Given the description of an element on the screen output the (x, y) to click on. 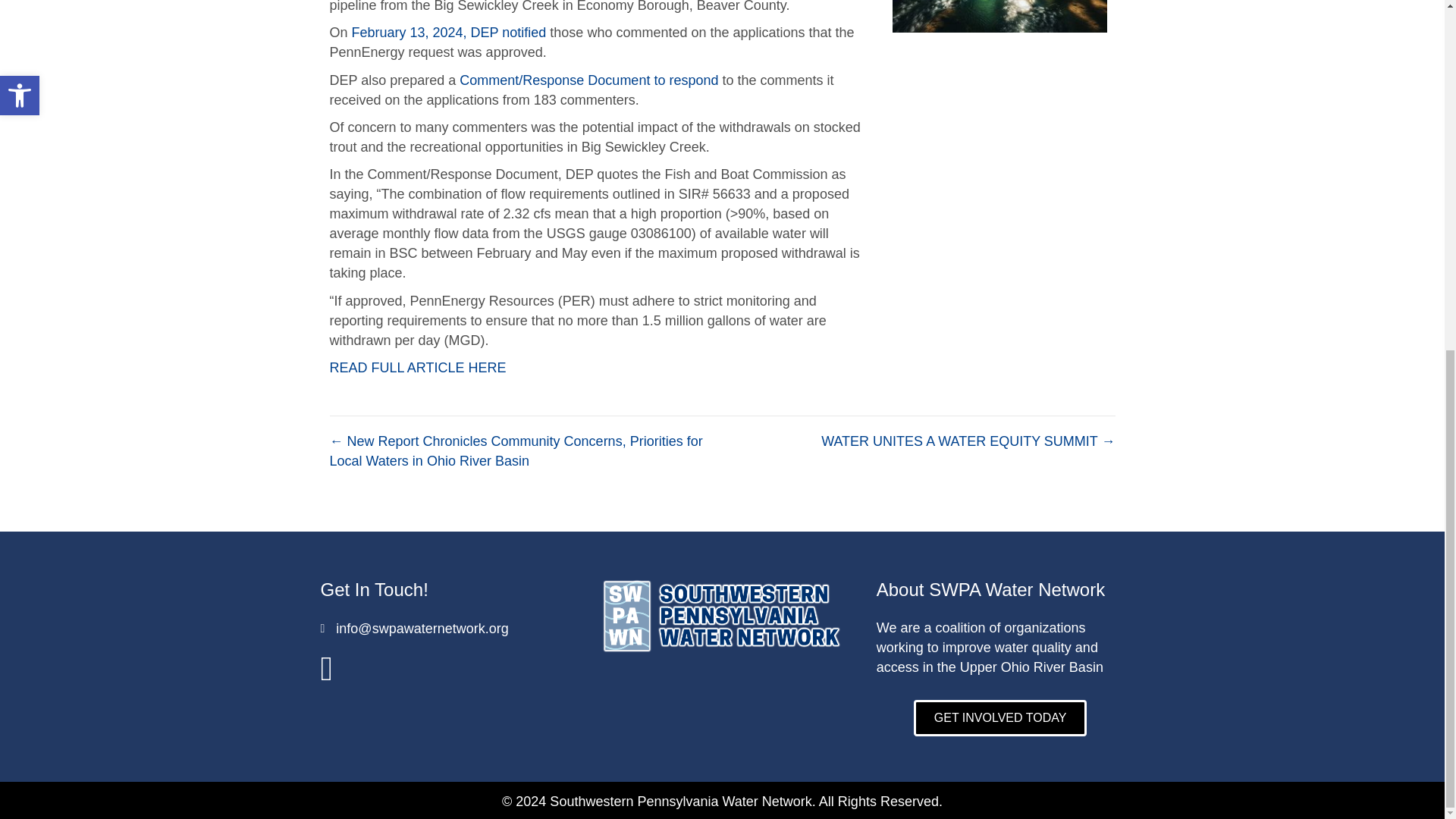
READ FULL ARTICLE HERE (417, 367)
CREEK (999, 16)
MAIN-LOGO4-glow (721, 616)
February 13, 2024, DEP notified (449, 32)
GET INVOLVED TODAY (1000, 718)
